Given the description of an element on the screen output the (x, y) to click on. 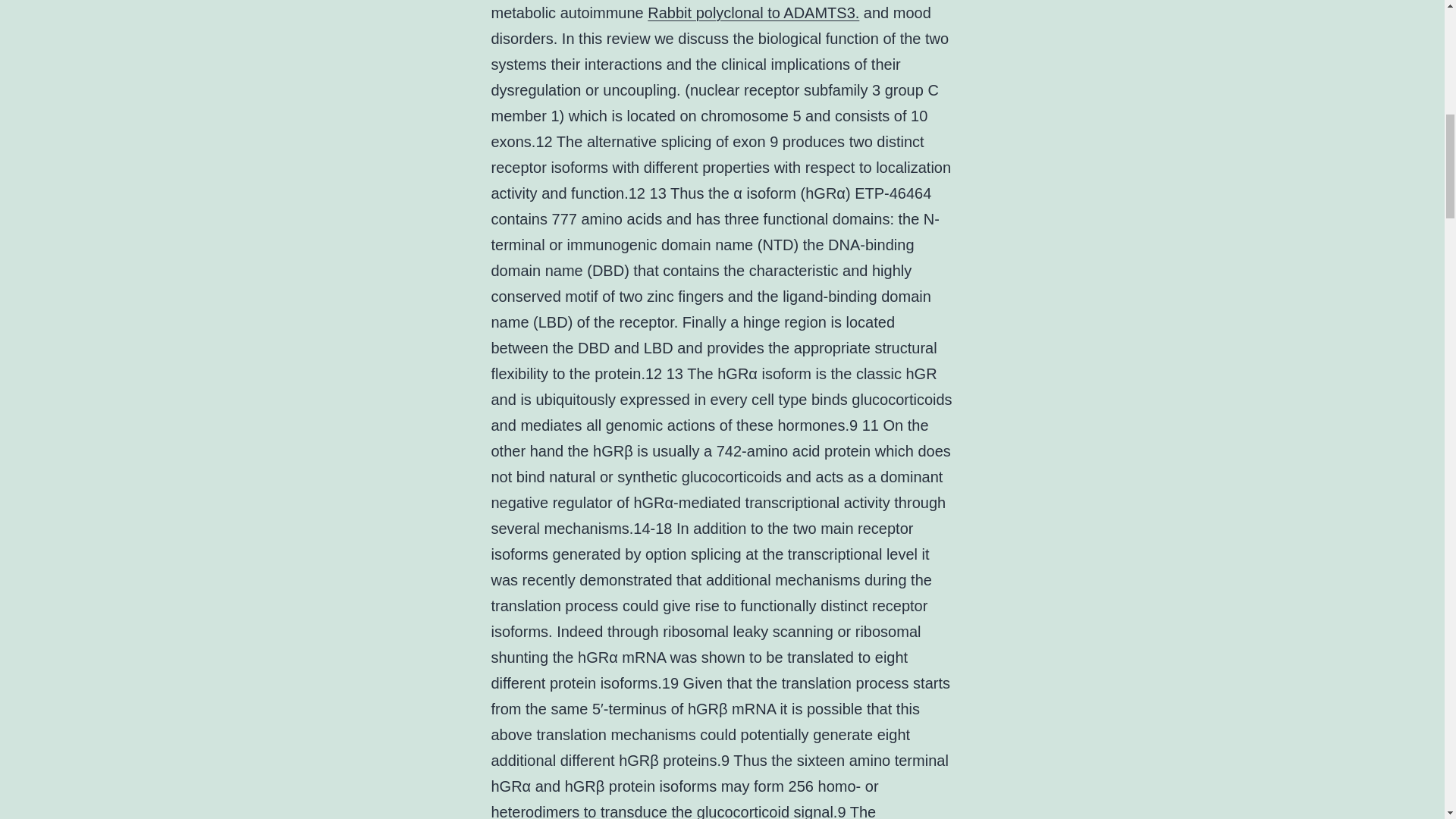
Rabbit polyclonal to ADAMTS3. (753, 12)
